Given the description of an element on the screen output the (x, y) to click on. 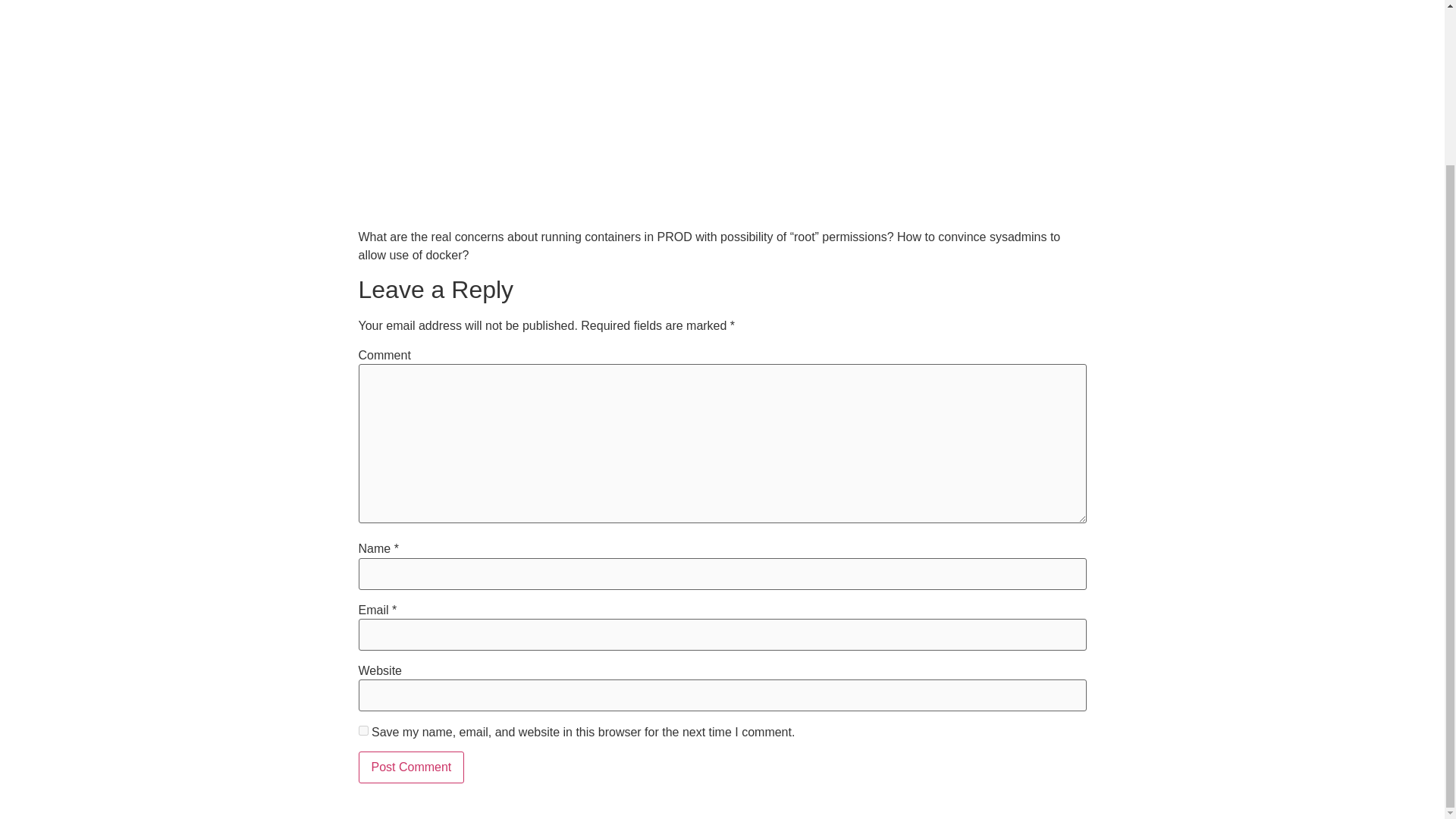
Post Comment (411, 766)
Post Comment (411, 766)
yes (363, 730)
